Given the description of an element on the screen output the (x, y) to click on. 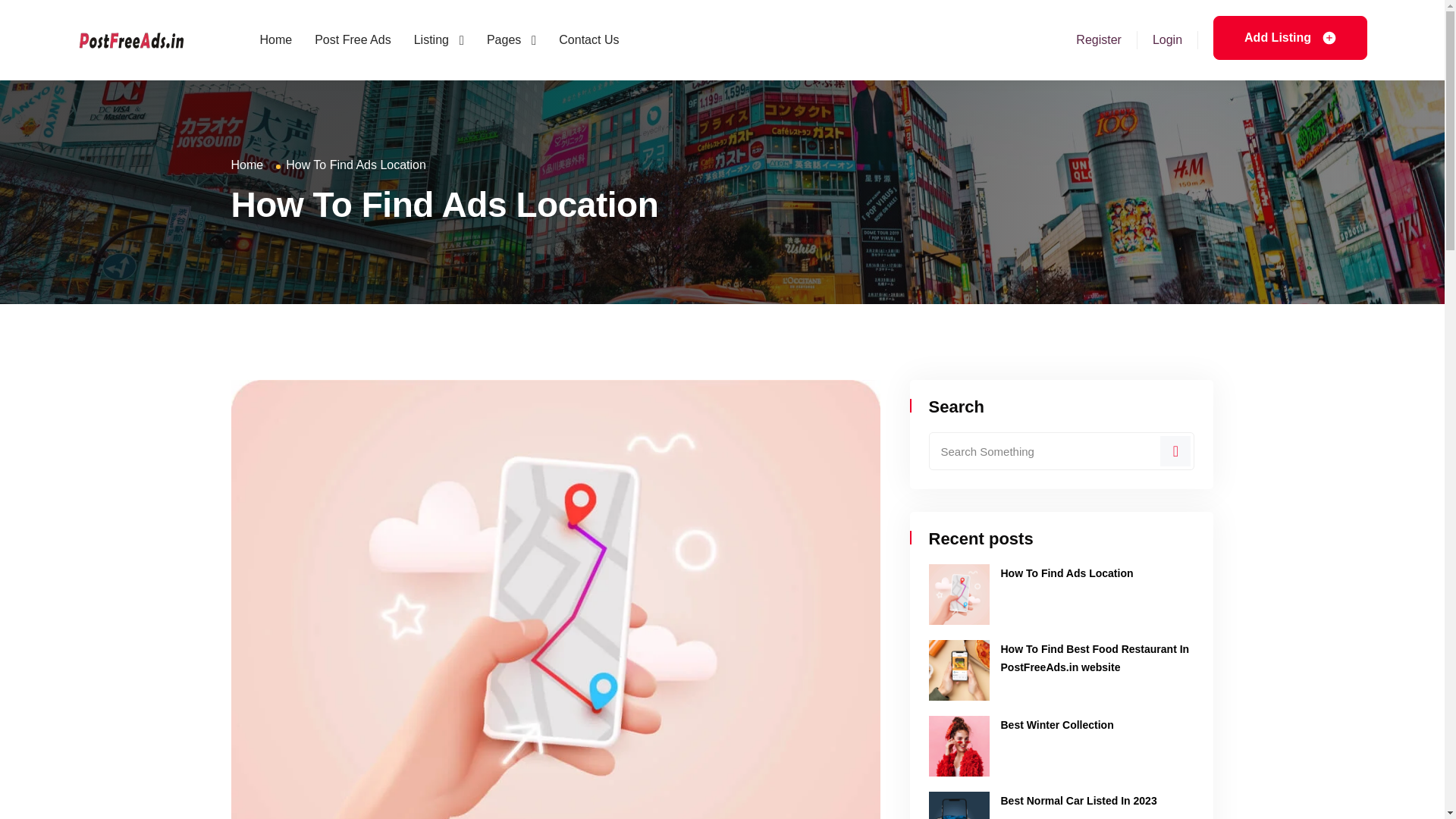
Pages (510, 39)
Register (1098, 39)
Home (275, 39)
Post Free Ads (352, 39)
Add Listing (1289, 36)
Post Free Ads (352, 39)
Listing (438, 39)
Listing (438, 39)
Contact Us (588, 39)
Home (246, 164)
Login (1167, 39)
Home (275, 39)
Pages (510, 39)
